Given the description of an element on the screen output the (x, y) to click on. 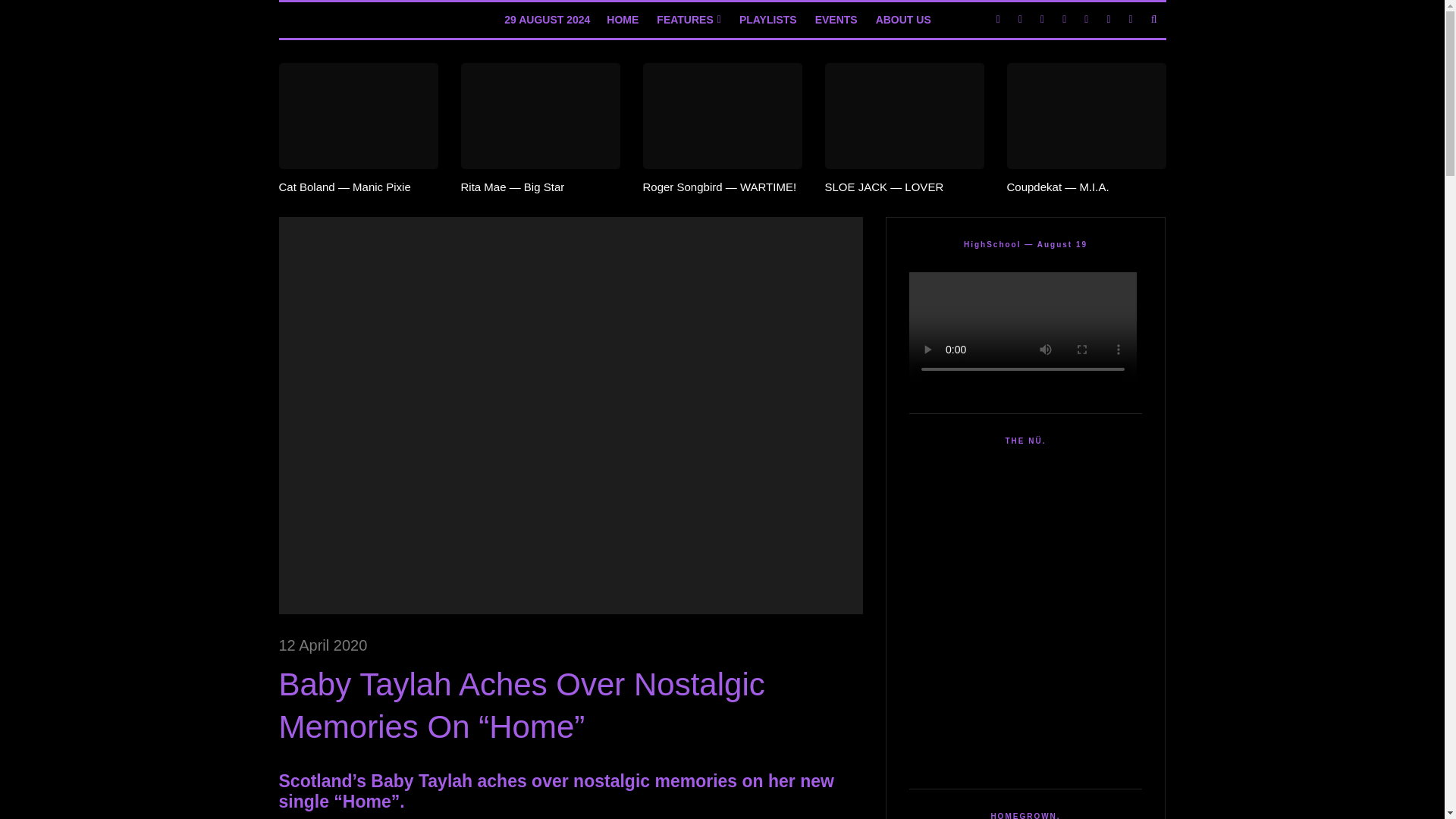
coupdekat (1086, 115)
rita mae 2 (540, 115)
sloe jack 1 (904, 115)
ABOUT US (903, 19)
cat boland (358, 115)
roger songbird (722, 115)
EVENTS (836, 19)
FEATURES (688, 19)
HOME (621, 19)
PLAYLISTS (768, 19)
